Given the description of an element on the screen output the (x, y) to click on. 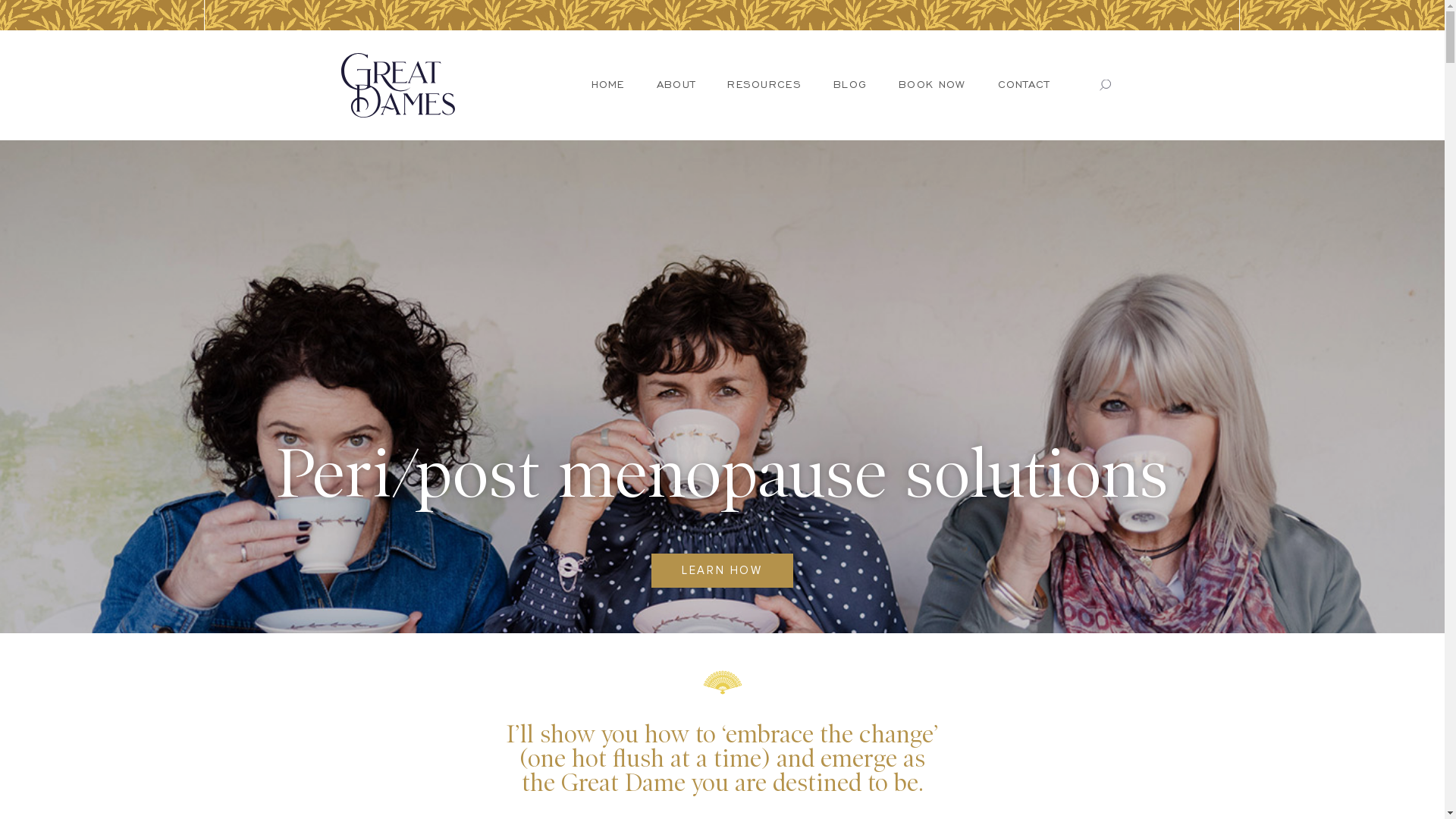
BOOK NOW Element type: text (931, 84)
LEARN HOW Element type: text (721, 570)
ABOUT Element type: text (676, 84)
RESOURCES Element type: text (764, 84)
BLOG Element type: text (849, 84)
HOME Element type: text (607, 84)
CONTACT Element type: text (1024, 84)
